Given the description of an element on the screen output the (x, y) to click on. 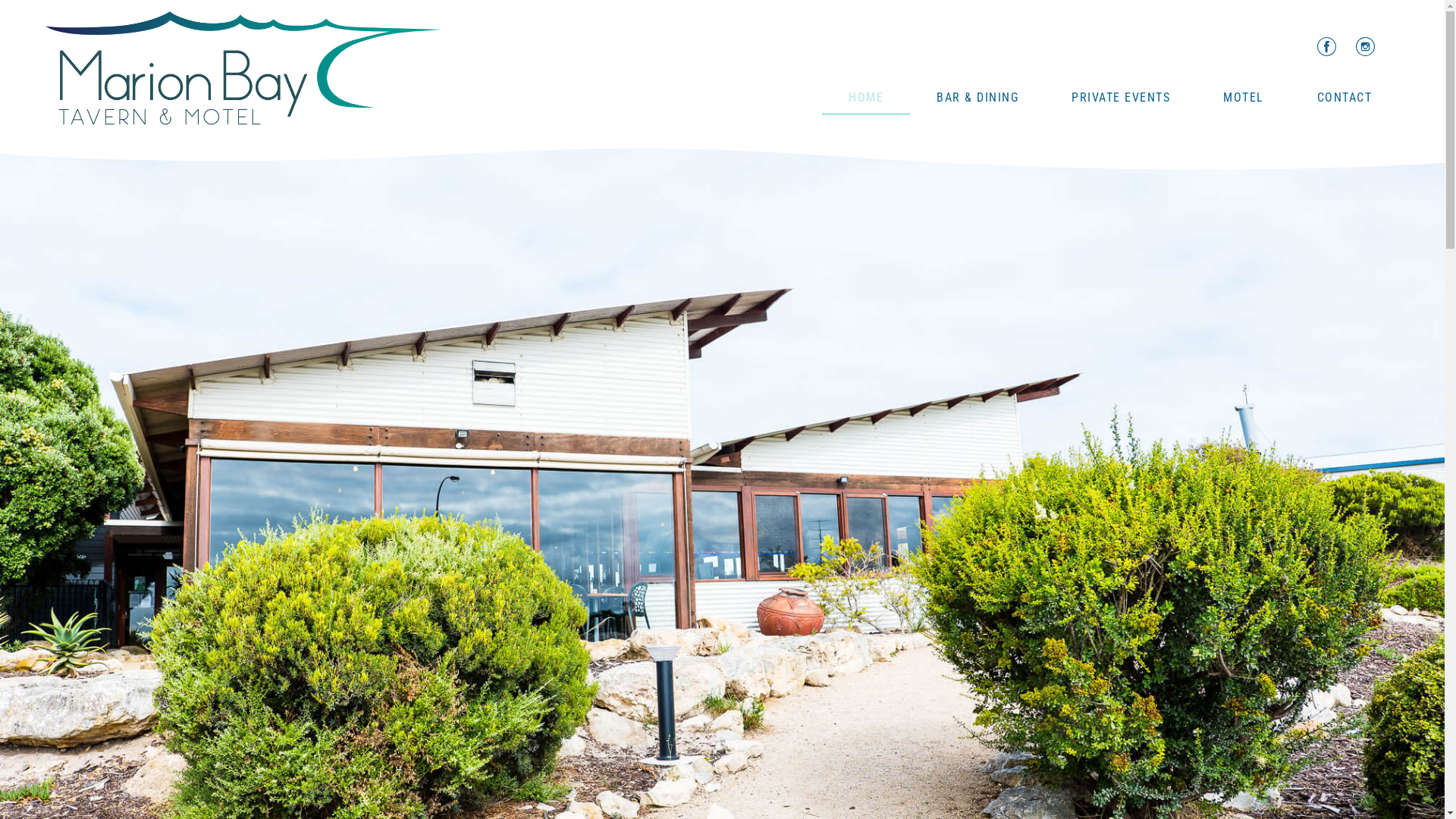
CONTACT Element type: text (1344, 97)
PRIVATE EVENTS Element type: text (1120, 97)
BAR & DINING Element type: text (977, 97)
MOTEL Element type: text (1243, 97)
HOME Element type: text (866, 97)
